Given the description of an element on the screen output the (x, y) to click on. 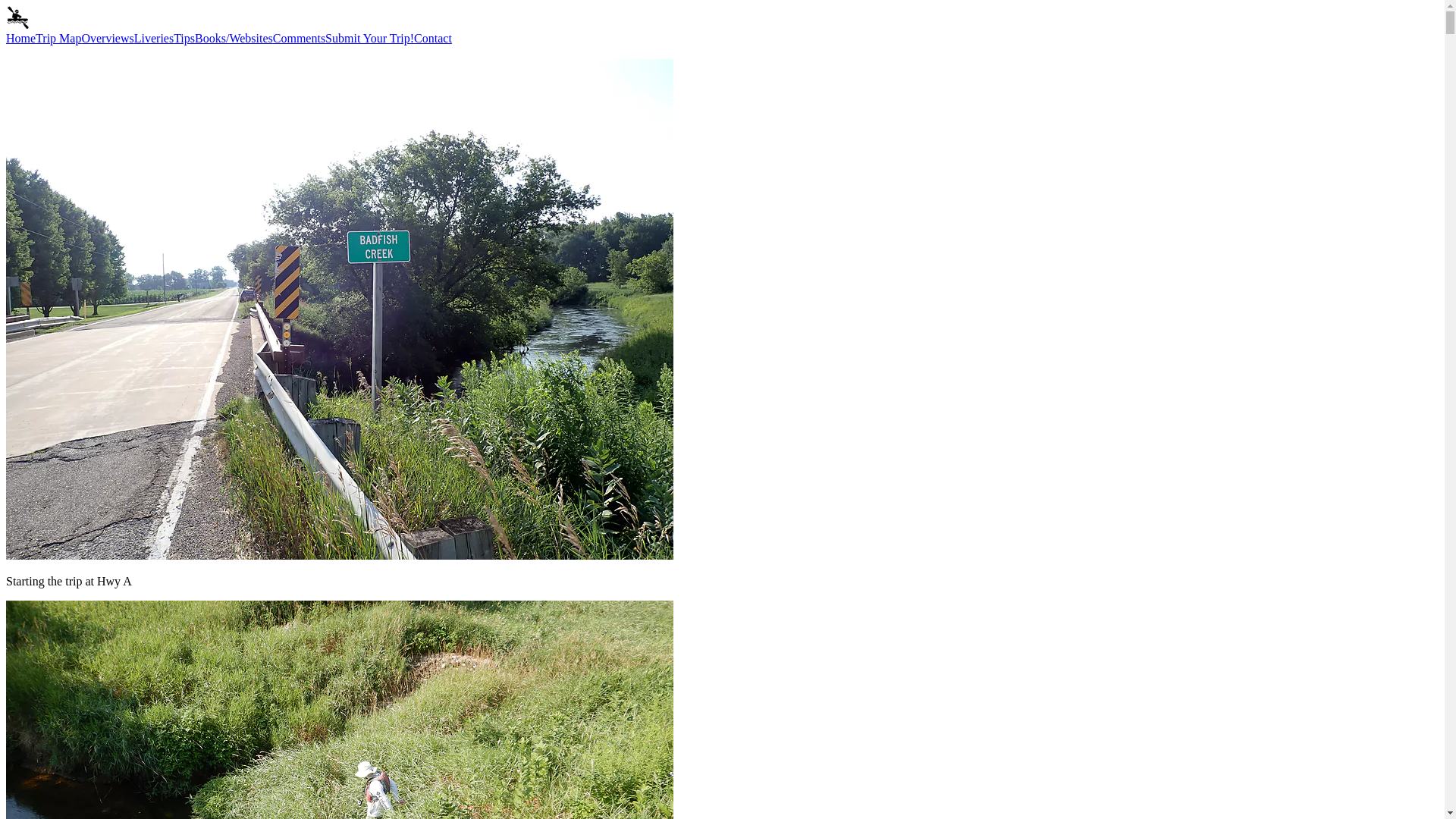
Tips (184, 38)
Contact (432, 38)
Liveries (153, 38)
Submit Your Trip! (368, 38)
Trip Map (57, 38)
Overviews (107, 38)
Home (19, 38)
Comments (298, 38)
